Given the description of an element on the screen output the (x, y) to click on. 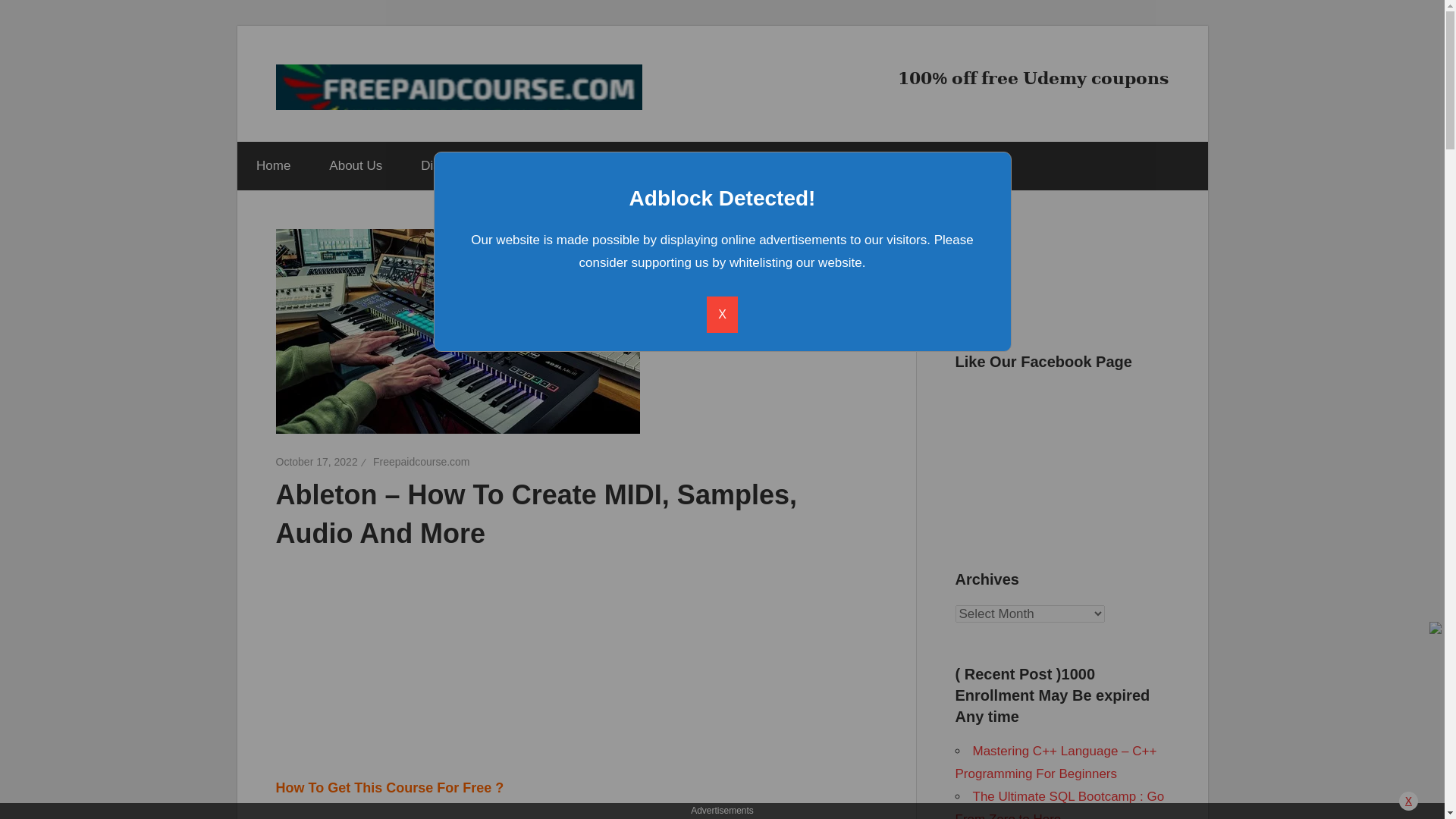
Home (271, 165)
Privacy Policy (560, 165)
October 17, 2022 (317, 461)
Disclaimer (450, 165)
Contact Us (671, 165)
10:53 pm (317, 461)
Ableton - How To Create MIDI, Samples, Audio And More 1 (458, 331)
x (1408, 800)
About Us (355, 165)
View all posts by Freepaidcourse.com (421, 461)
Freepaidcourse.com (421, 461)
